Given the description of an element on the screen output the (x, y) to click on. 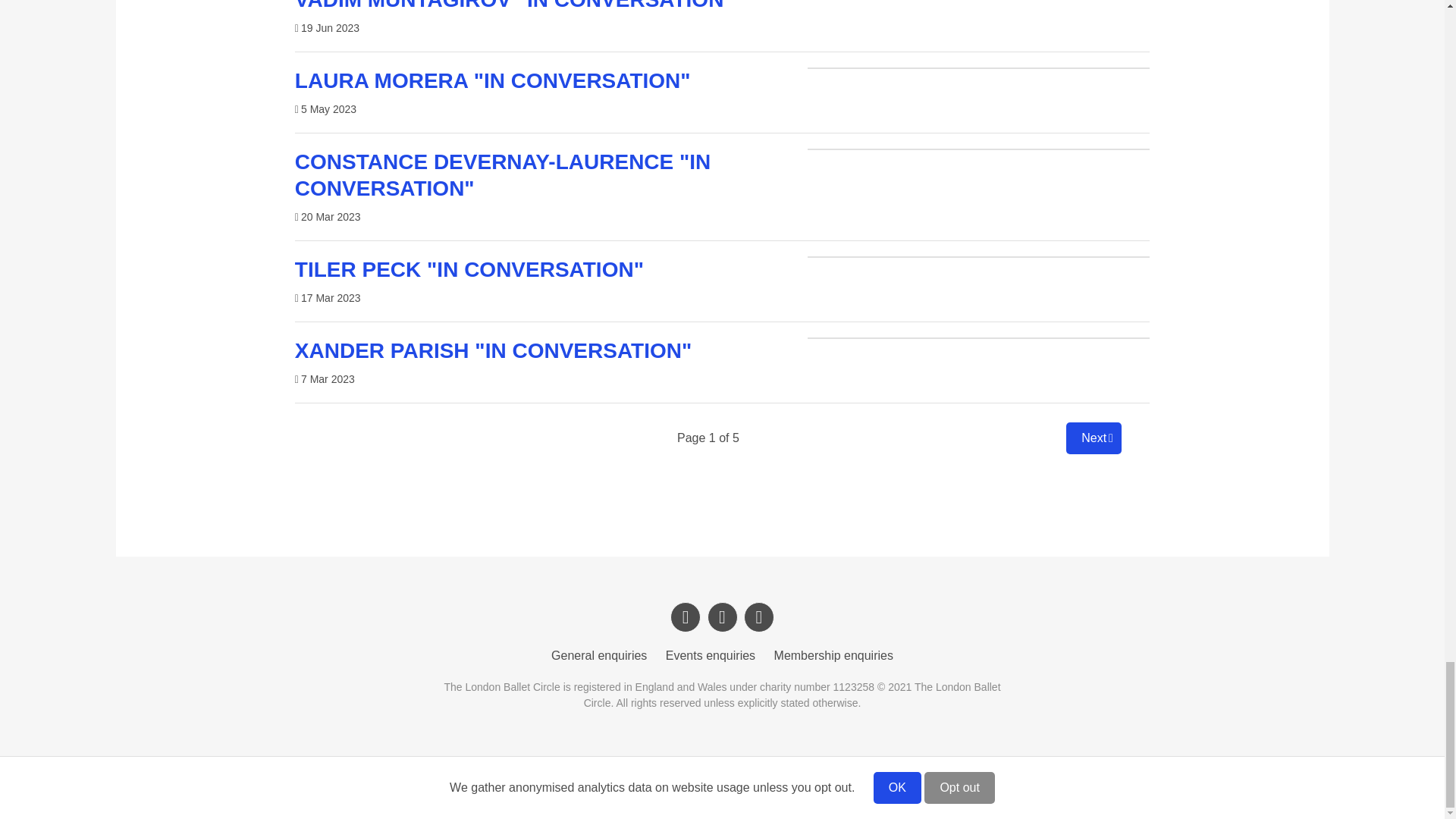
TILER PECK "IN CONVERSATION" (469, 269)
VADIM MUNTAGIROV "IN CONVERSATION" (514, 5)
XANDER PARISH "IN CONVERSATION" (493, 350)
Next (1093, 438)
LAURA MORERA "IN CONVERSATION" (492, 80)
CONSTANCE DEVERNAY-LAURENCE "IN CONVERSATION" (502, 174)
